Given the description of an element on the screen output the (x, y) to click on. 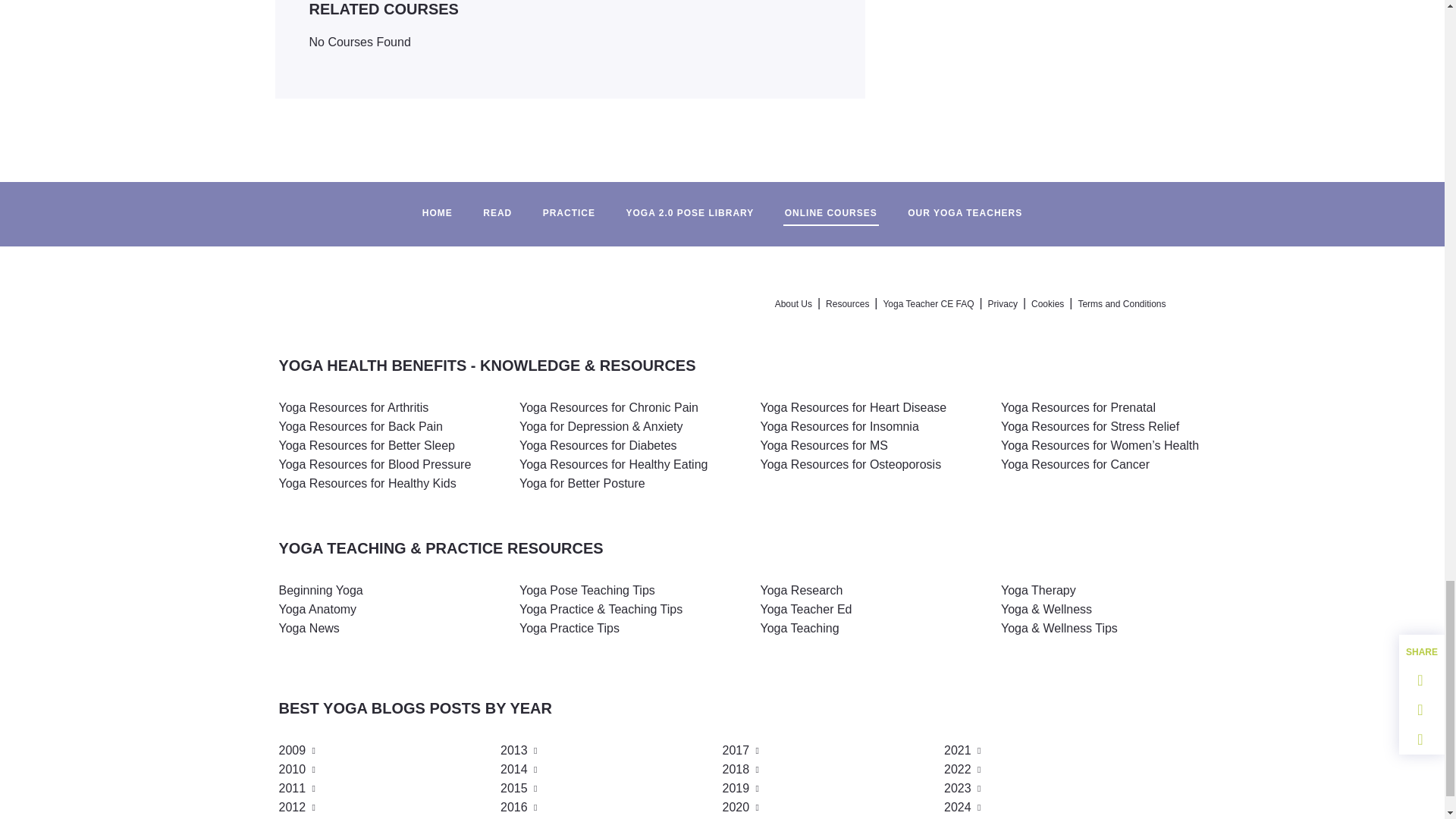
HOME (437, 206)
